Given the description of an element on the screen output the (x, y) to click on. 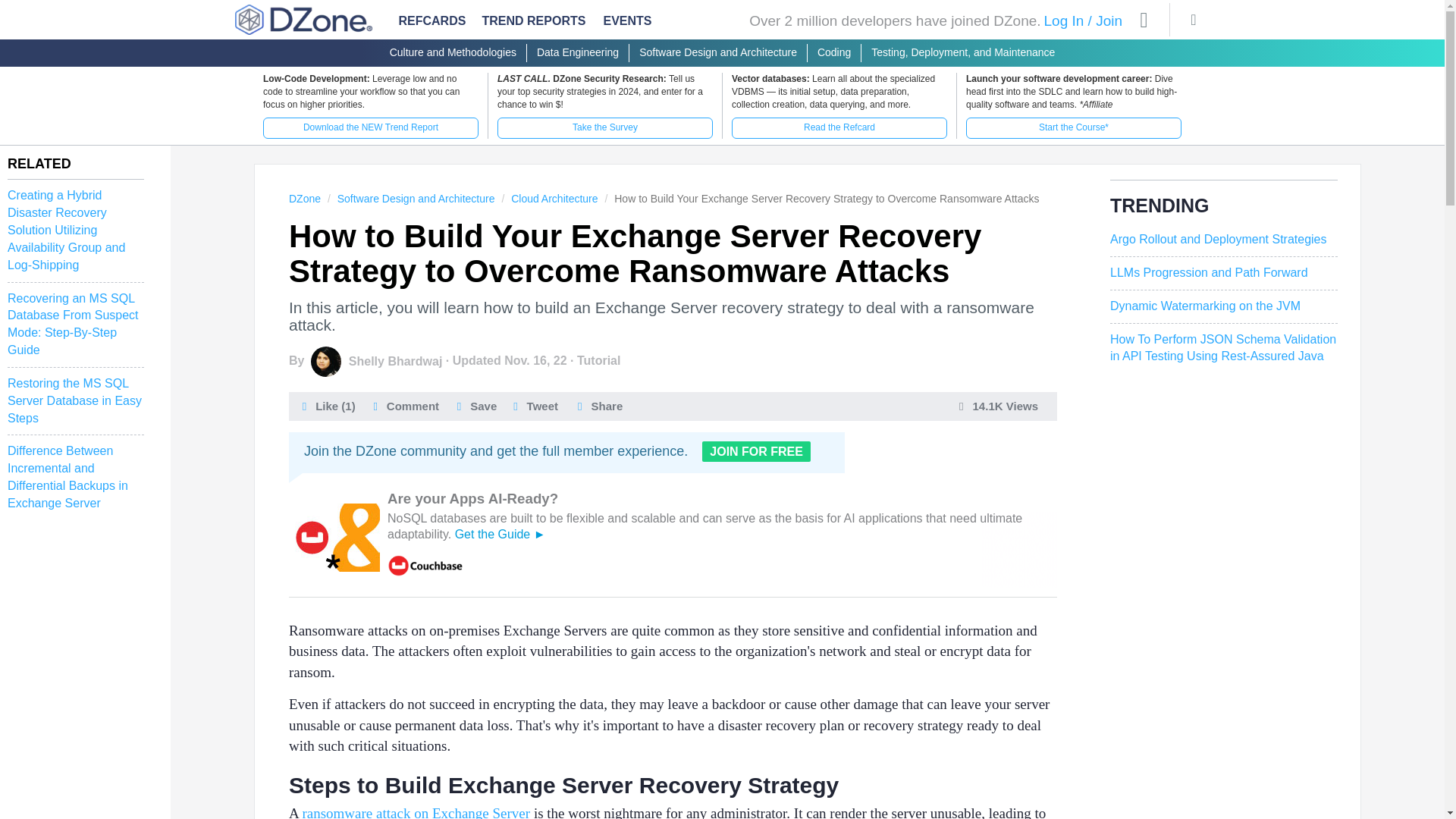
3rd party ad content (672, 539)
REFCARDS (432, 21)
TREND REPORTS (534, 21)
Join (1109, 20)
Log In (1063, 20)
EVENTS (628, 24)
